Given the description of an element on the screen output the (x, y) to click on. 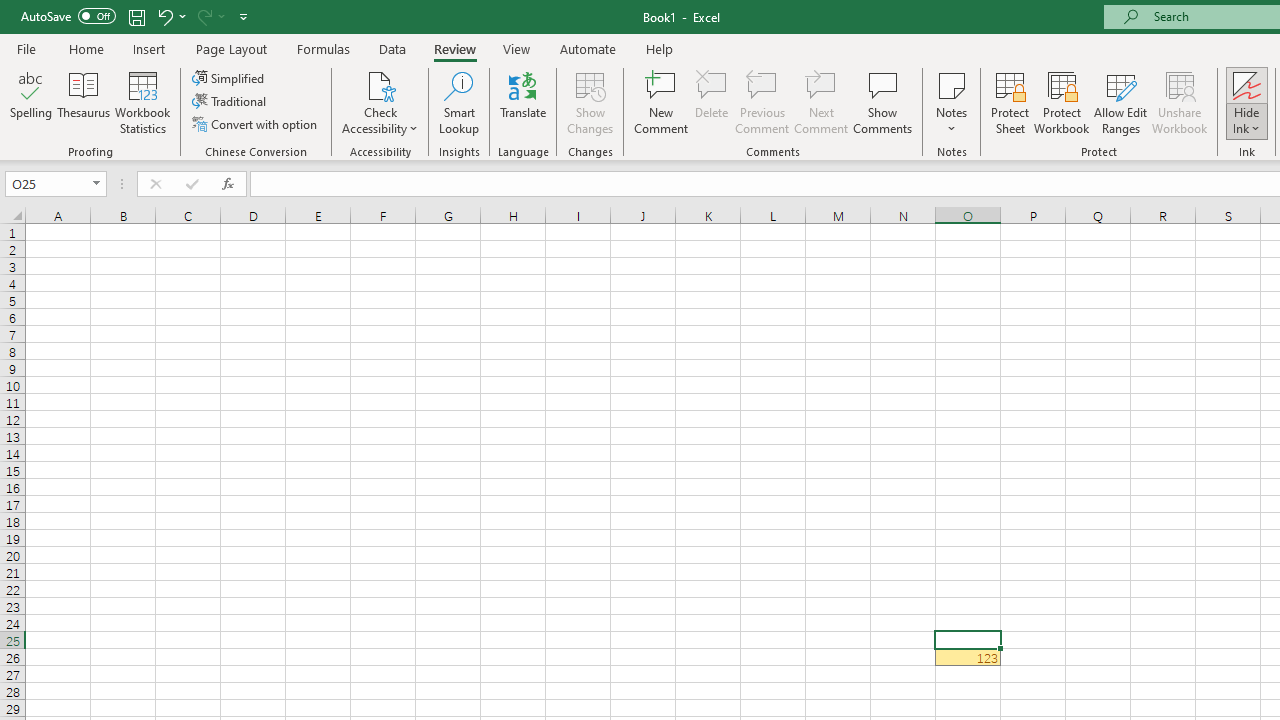
Redo (203, 15)
Check Accessibility (380, 84)
